Given the description of an element on the screen output the (x, y) to click on. 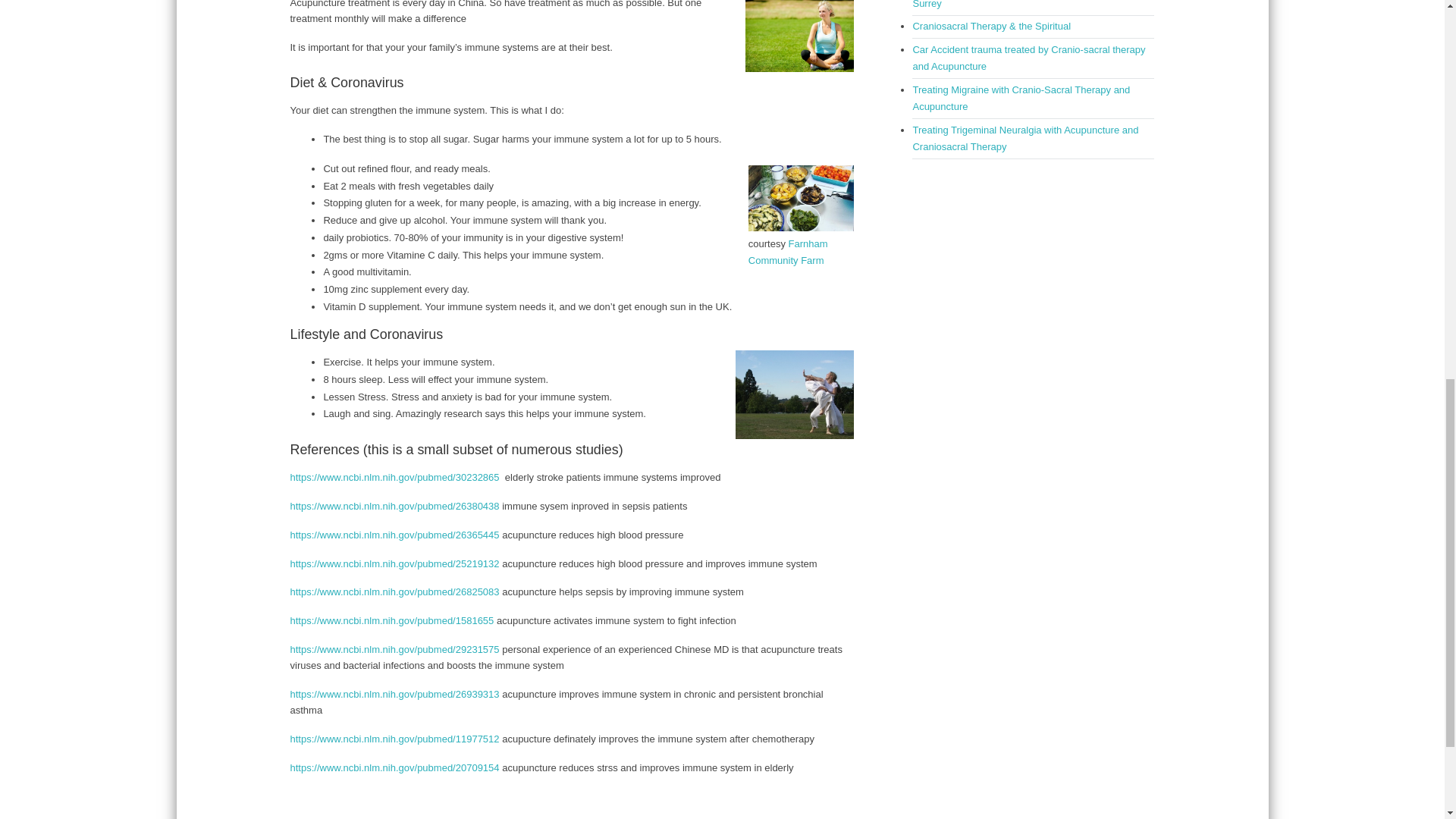
Farnham Community Farm (788, 251)
